Given the description of an element on the screen output the (x, y) to click on. 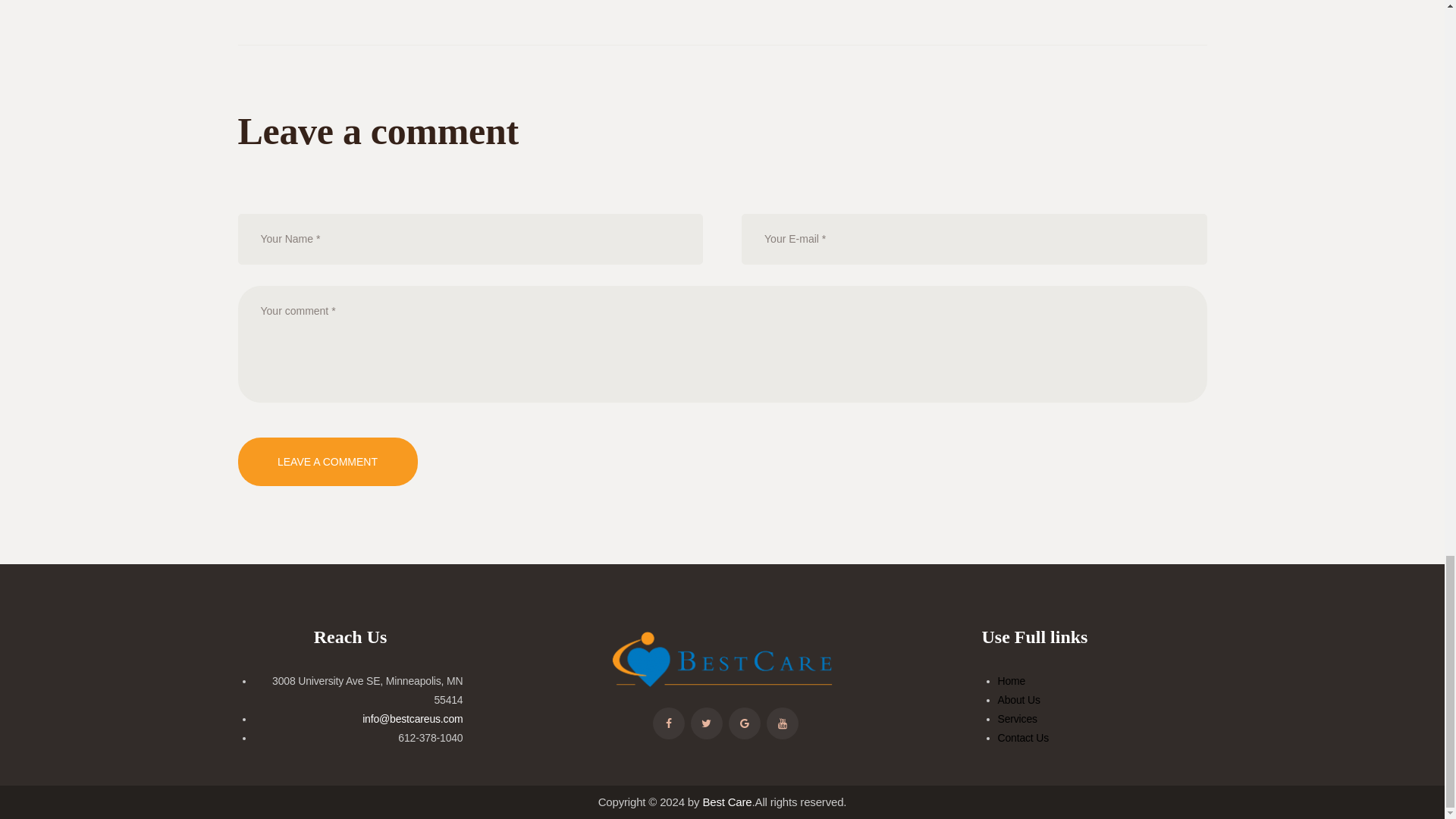
Leave a comment (327, 461)
best care copy (721, 659)
